Given the description of an element on the screen output the (x, y) to click on. 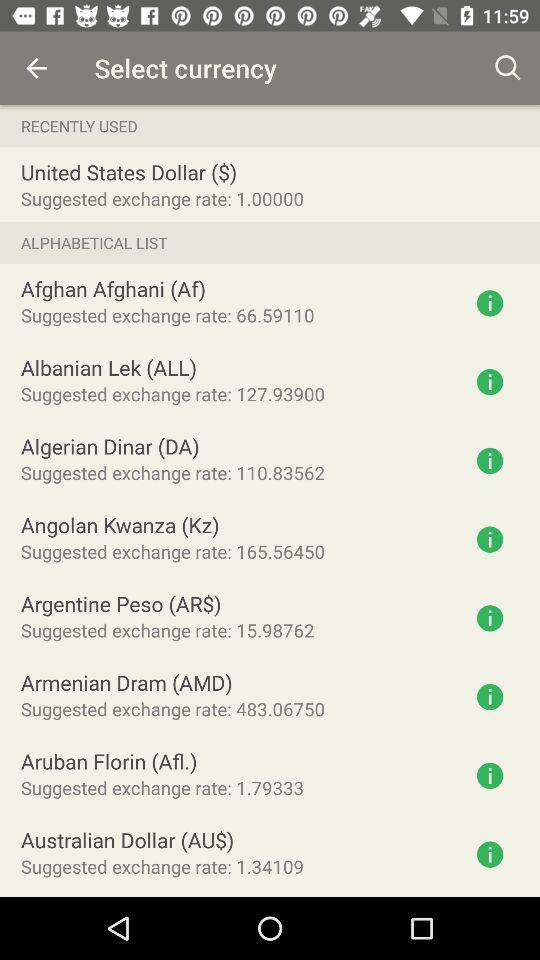
information link (490, 854)
